Given the description of an element on the screen output the (x, y) to click on. 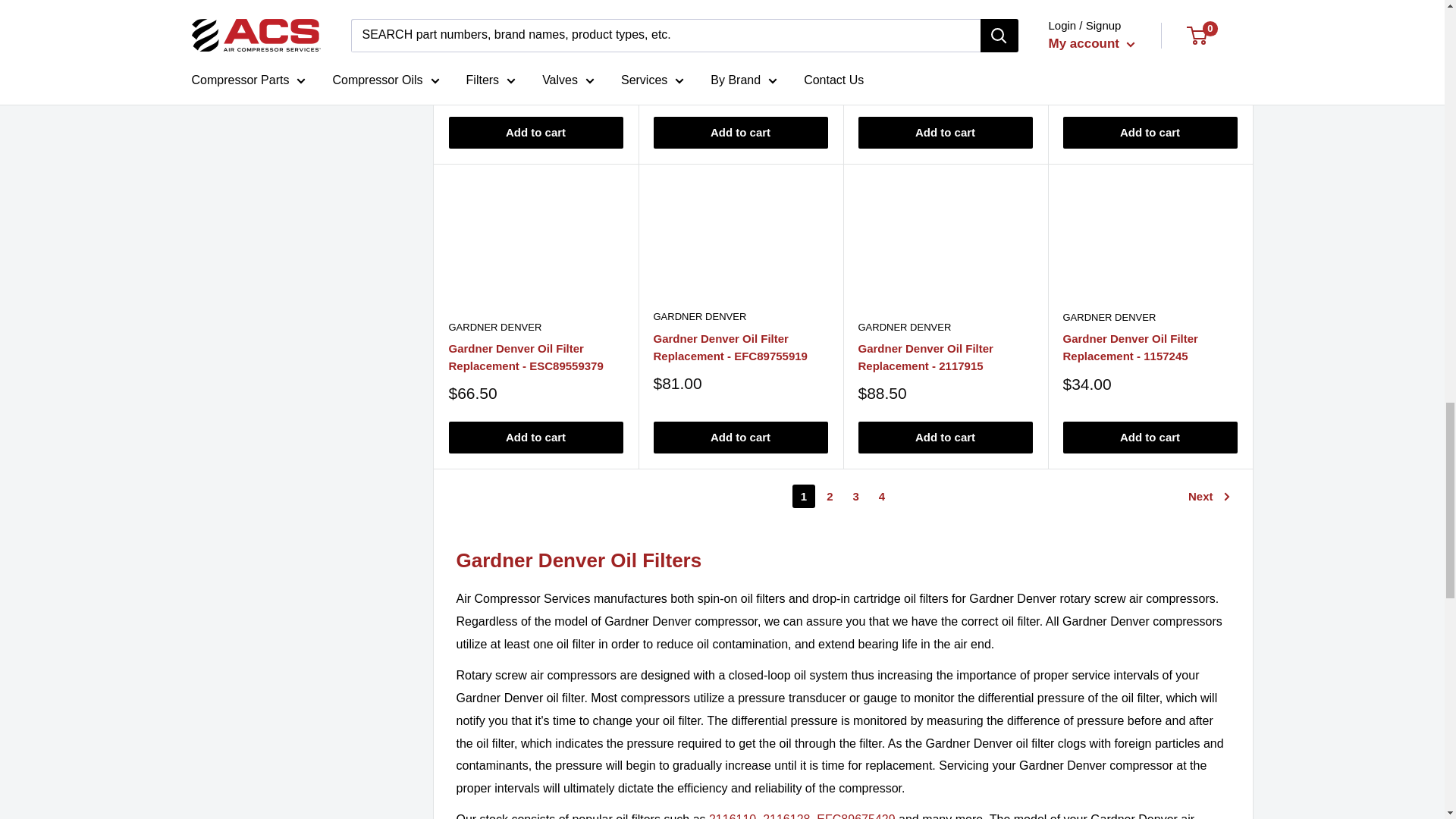
Navigate to page 3 (855, 495)
Gardner Denver Oil Filter Replacement - 2116128 (785, 816)
Navigate to page 2 (829, 495)
Navigate to page 4 (881, 495)
Gardner Denver Oil Filter Replacement - EFC89675429 (857, 816)
Gardner Denver Oil Filter Replacement - 2116110 (732, 816)
Next (1209, 495)
